Given the description of an element on the screen output the (x, y) to click on. 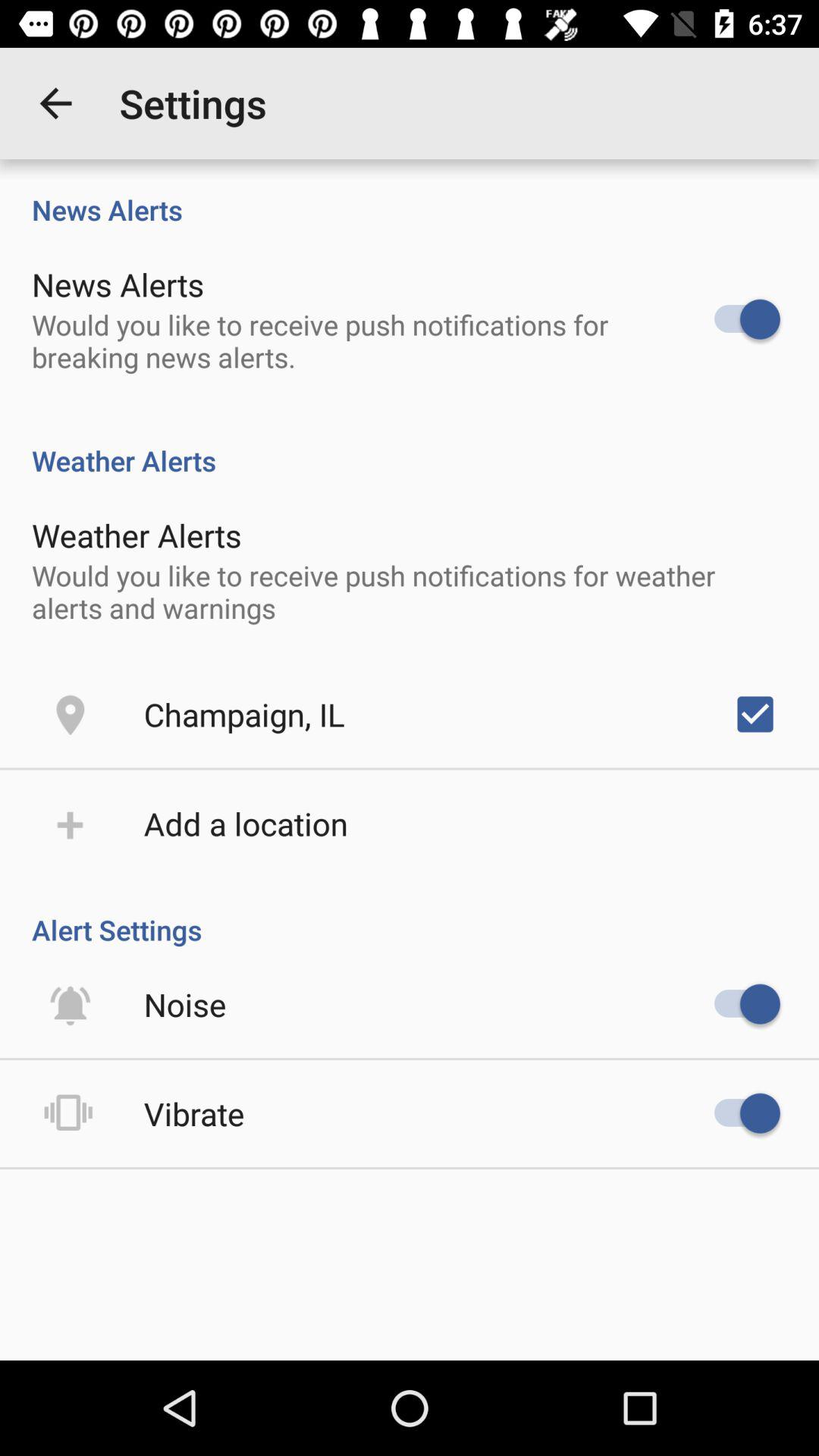
press the icon above alert settings icon (245, 823)
